Given the description of an element on the screen output the (x, y) to click on. 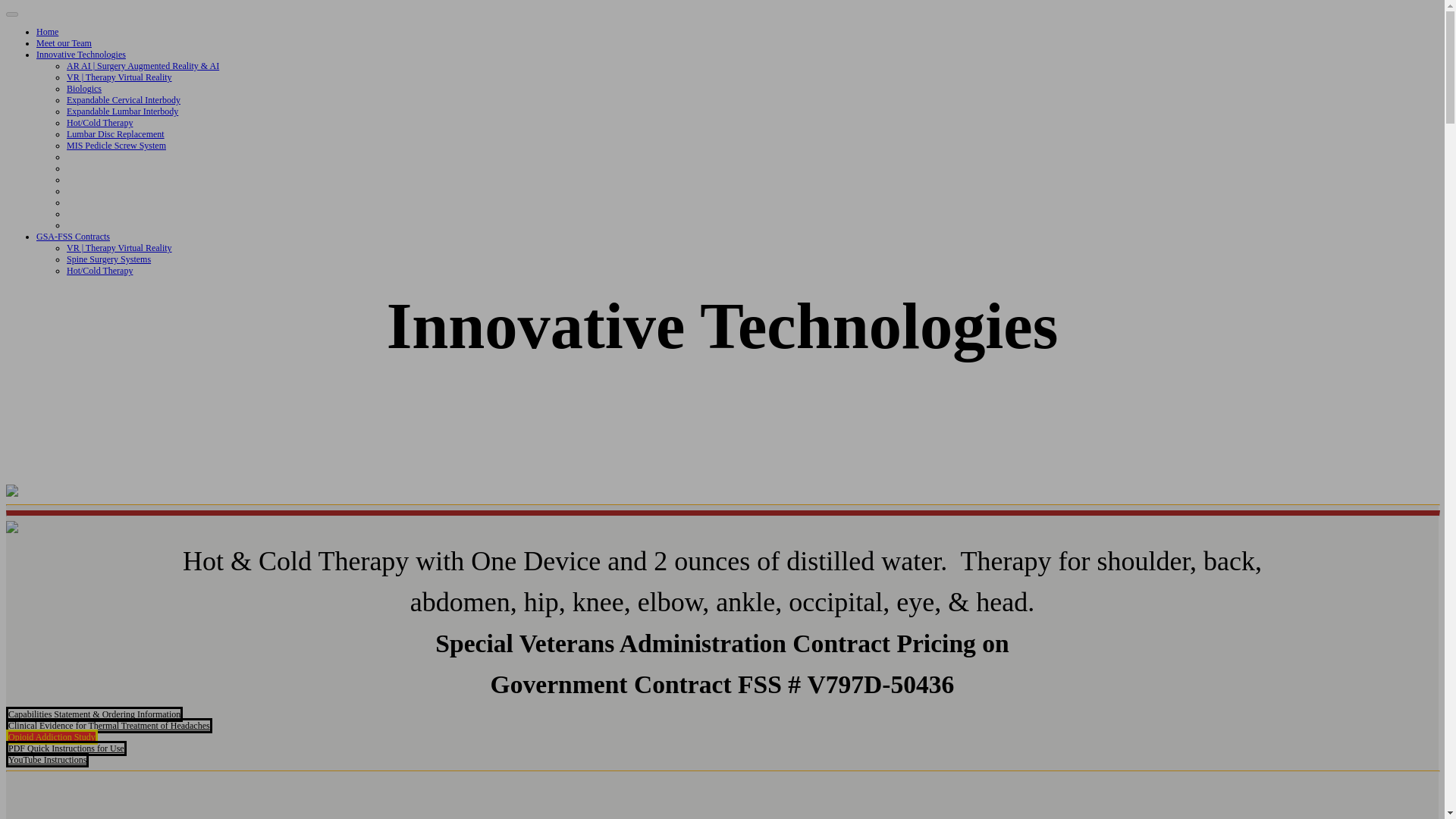
Lumbar Disc Replacement (115, 133)
Spine Surgery Systems (108, 258)
Clinical Evidence for Thermal Treatment of Headaches (108, 725)
Meet our Team (63, 42)
Expandable Lumbar Interbody (121, 111)
Innovative Technologies (80, 54)
YouTube Instructions (46, 759)
PDF Quick Instructions for Use (65, 748)
Home (47, 31)
Expandable Cervical Interbody (123, 100)
